Given the description of an element on the screen output the (x, y) to click on. 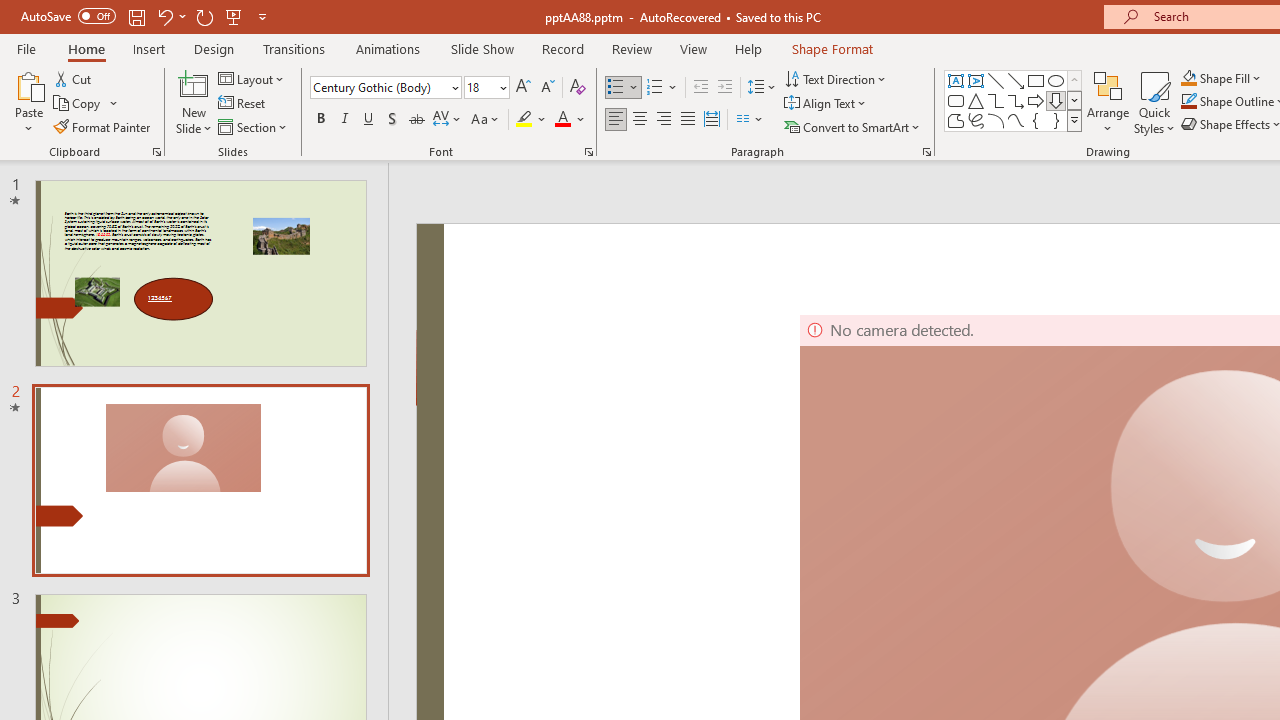
Shape Fill (1221, 78)
Bold (320, 119)
Copy (85, 103)
Font (385, 87)
Undo (164, 15)
View (693, 48)
Paste (28, 102)
Align Right (663, 119)
Transitions (294, 48)
Record (562, 48)
Arrow: Down (1055, 100)
Connector: Elbow (995, 100)
Align Text (826, 103)
Quick Access Toolbar (145, 16)
Review (631, 48)
